Given the description of an element on the screen output the (x, y) to click on. 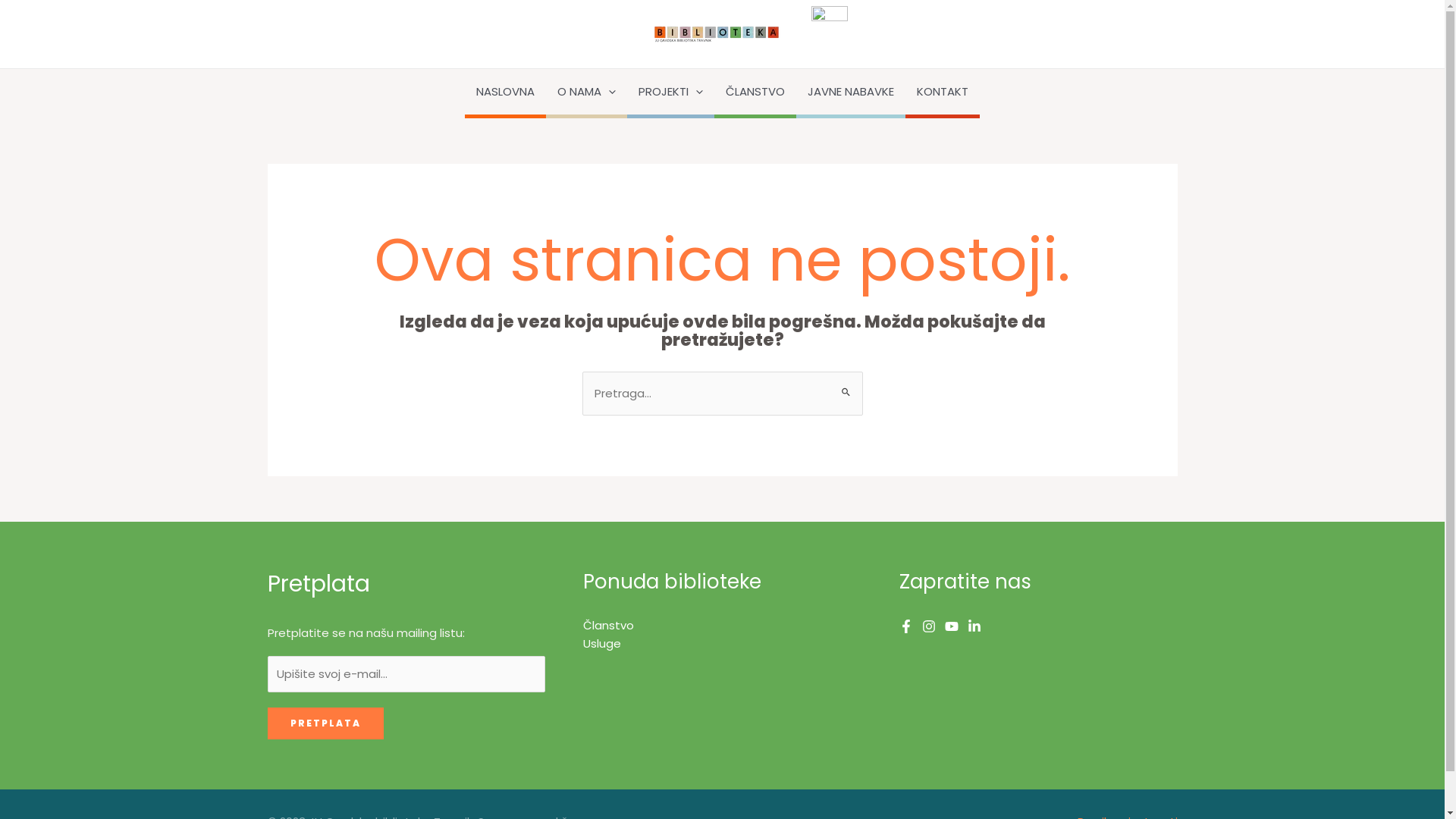
O NAMA Element type: text (586, 93)
KONTAKT Element type: text (942, 93)
Usluge Element type: text (602, 643)
Pretraga Element type: text (845, 385)
PRETPLATA Element type: text (324, 723)
JAVNE NABAVKE Element type: text (850, 93)
NASLOVNA Element type: text (505, 93)
PROJEKTI Element type: text (670, 93)
